Given the description of an element on the screen output the (x, y) to click on. 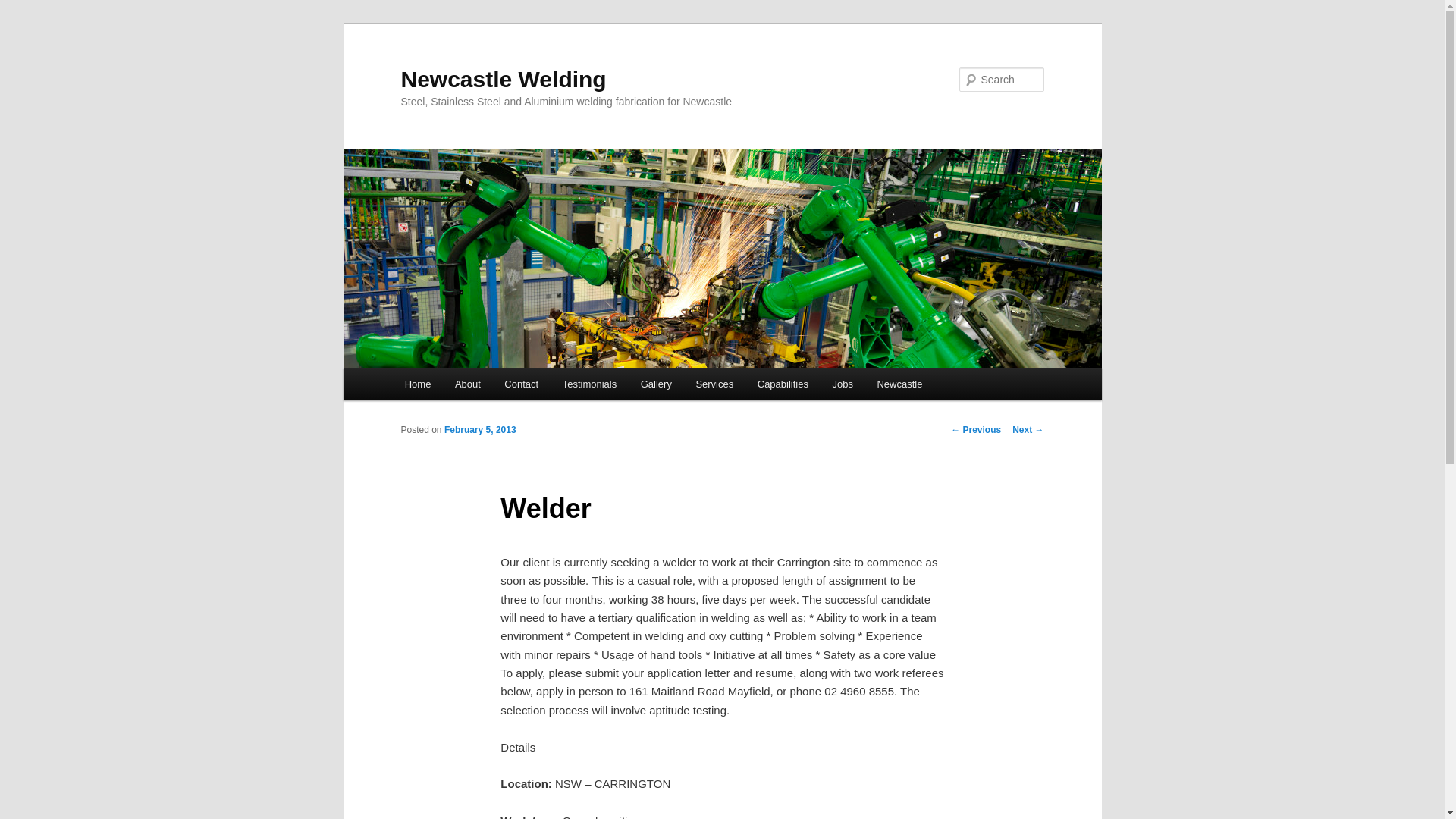
Contact Element type: text (521, 383)
Jobs Element type: text (842, 383)
Home Element type: text (417, 383)
Skip to primary content Element type: text (22, 22)
Services Element type: text (714, 383)
Capabilities Element type: text (782, 383)
About Element type: text (467, 383)
February 5, 2013 Element type: text (480, 429)
Search Element type: text (24, 8)
Newcastle Welding Element type: text (502, 78)
Newcastle Element type: text (899, 383)
Gallery Element type: text (656, 383)
Testimonials Element type: text (589, 383)
